Given the description of an element on the screen output the (x, y) to click on. 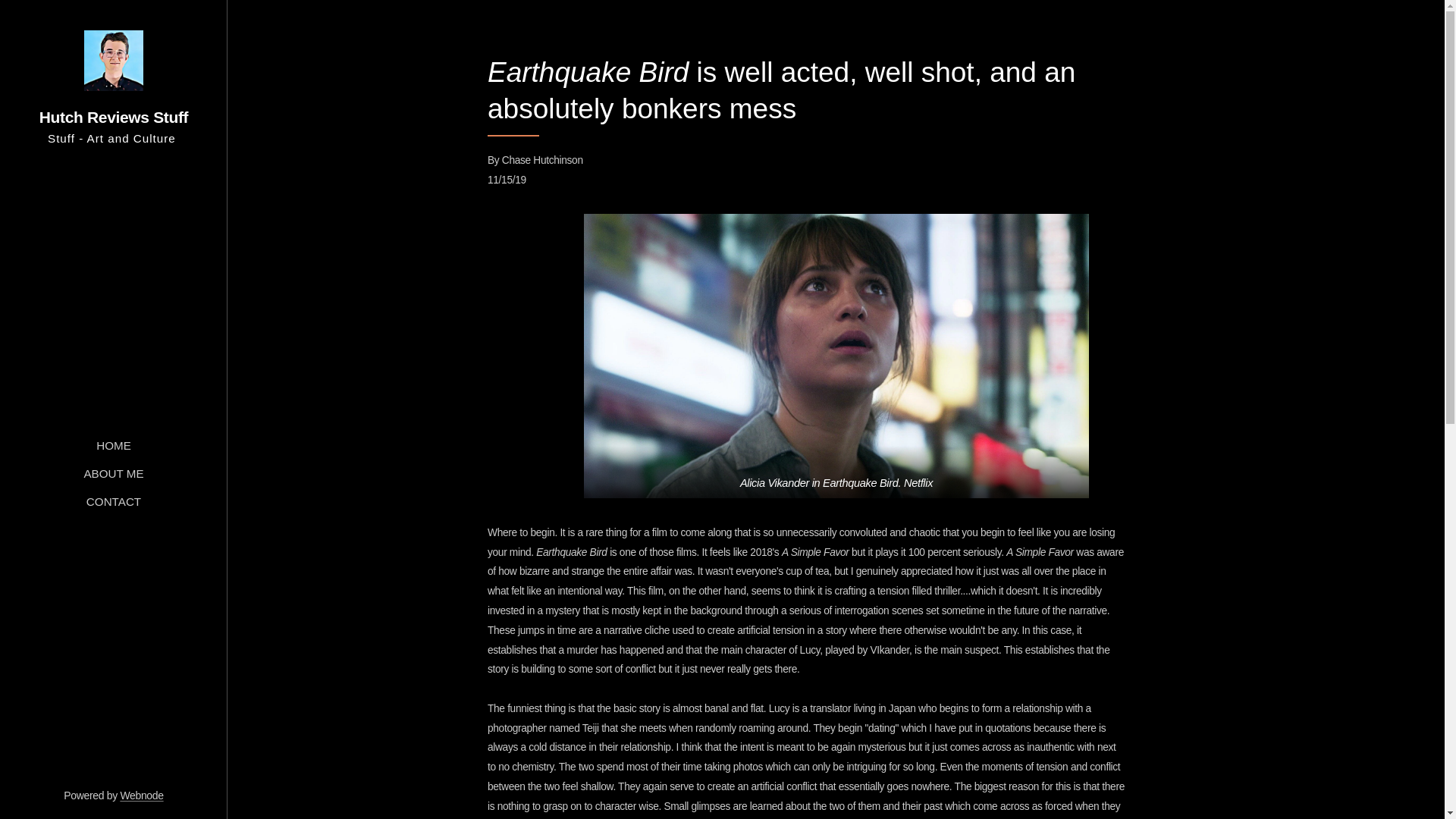
CONTACT (113, 501)
ABOUT ME (113, 473)
Webnode (141, 795)
HOME (113, 445)
Hutch Reviews Stuff (114, 79)
